Given the description of an element on the screen output the (x, y) to click on. 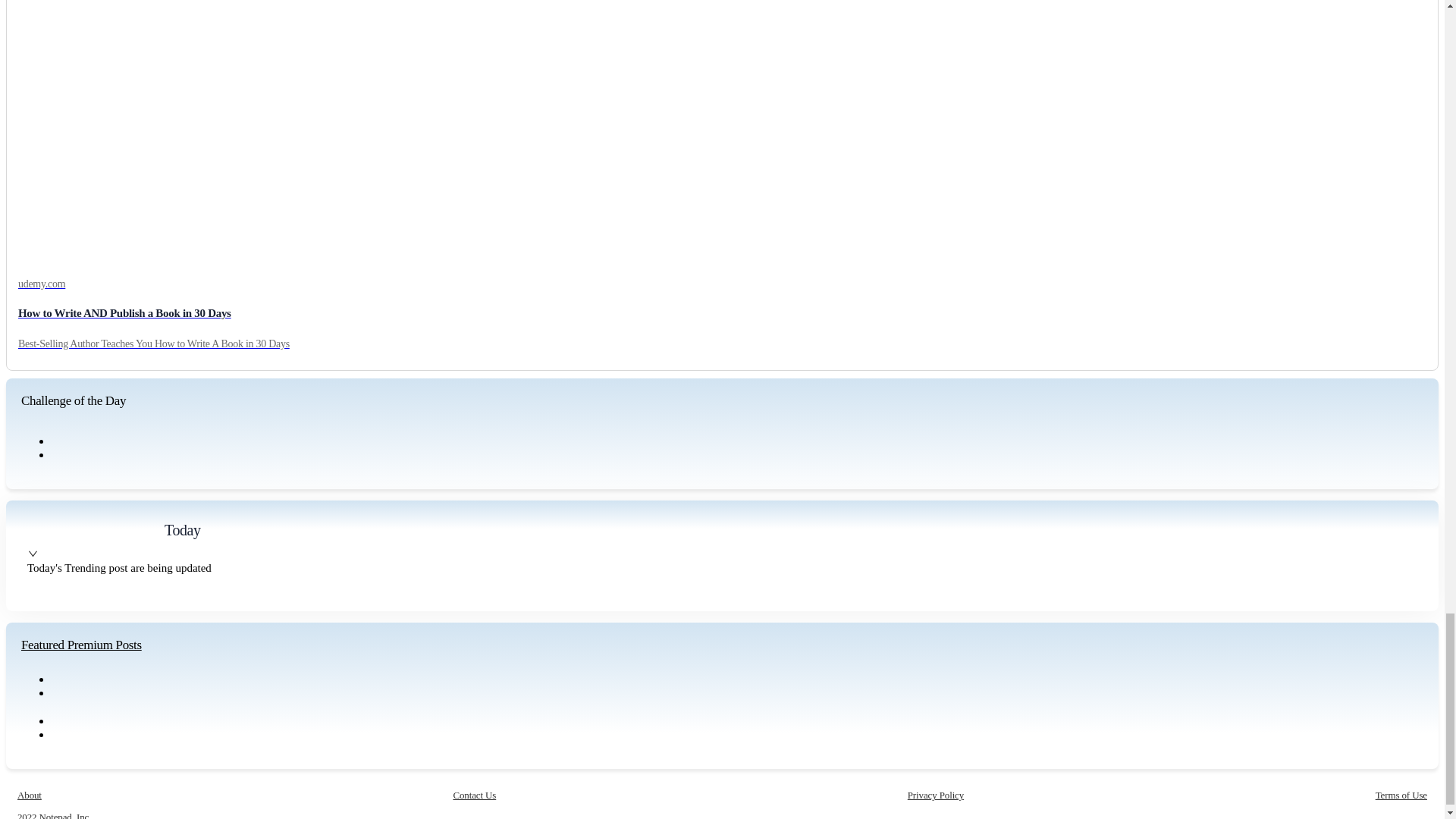
Featured Premium Posts (81, 644)
About (29, 795)
Today (182, 529)
Privacy Policy (935, 795)
Contact Us (474, 795)
Terms of Use (1400, 795)
